Given the description of an element on the screen output the (x, y) to click on. 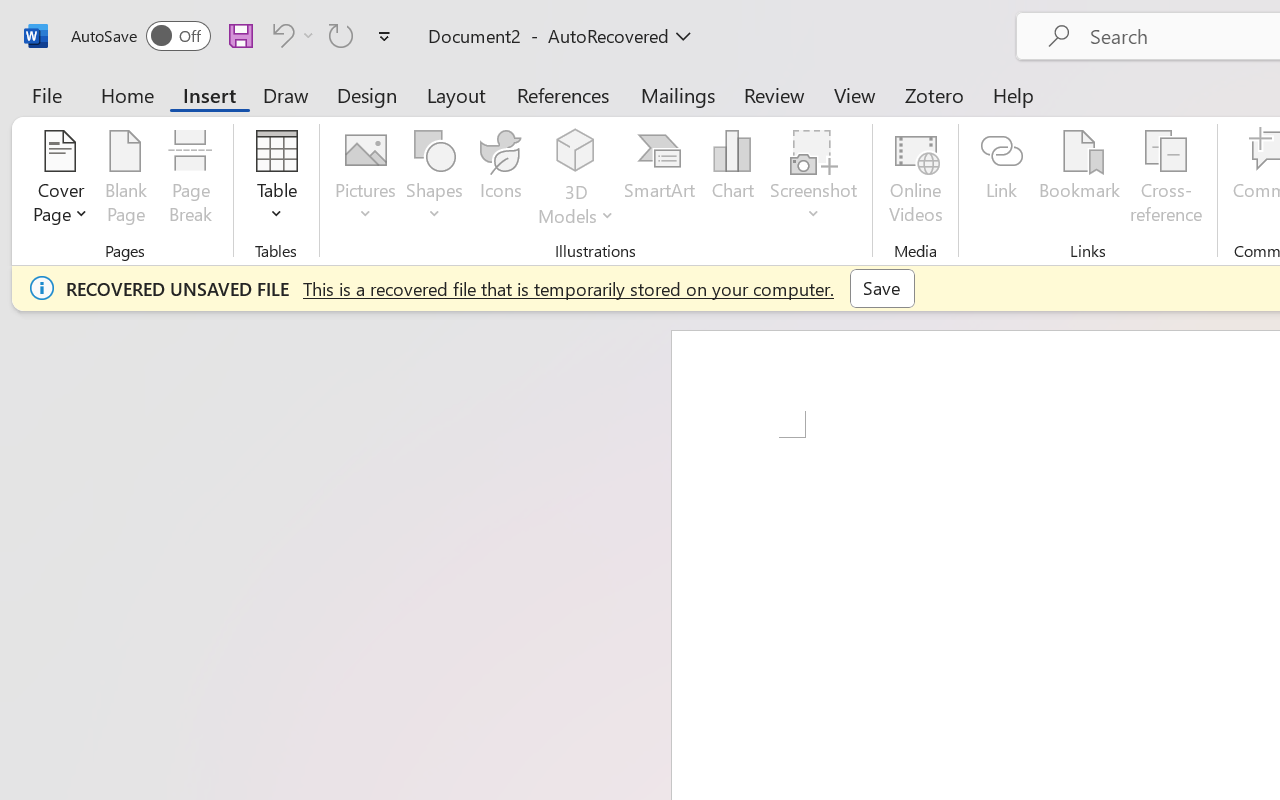
Screenshot (813, 179)
Cross-reference... (1165, 179)
Can't Undo (290, 35)
Link (1001, 179)
Bookmark... (1079, 179)
